Given the description of an element on the screen output the (x, y) to click on. 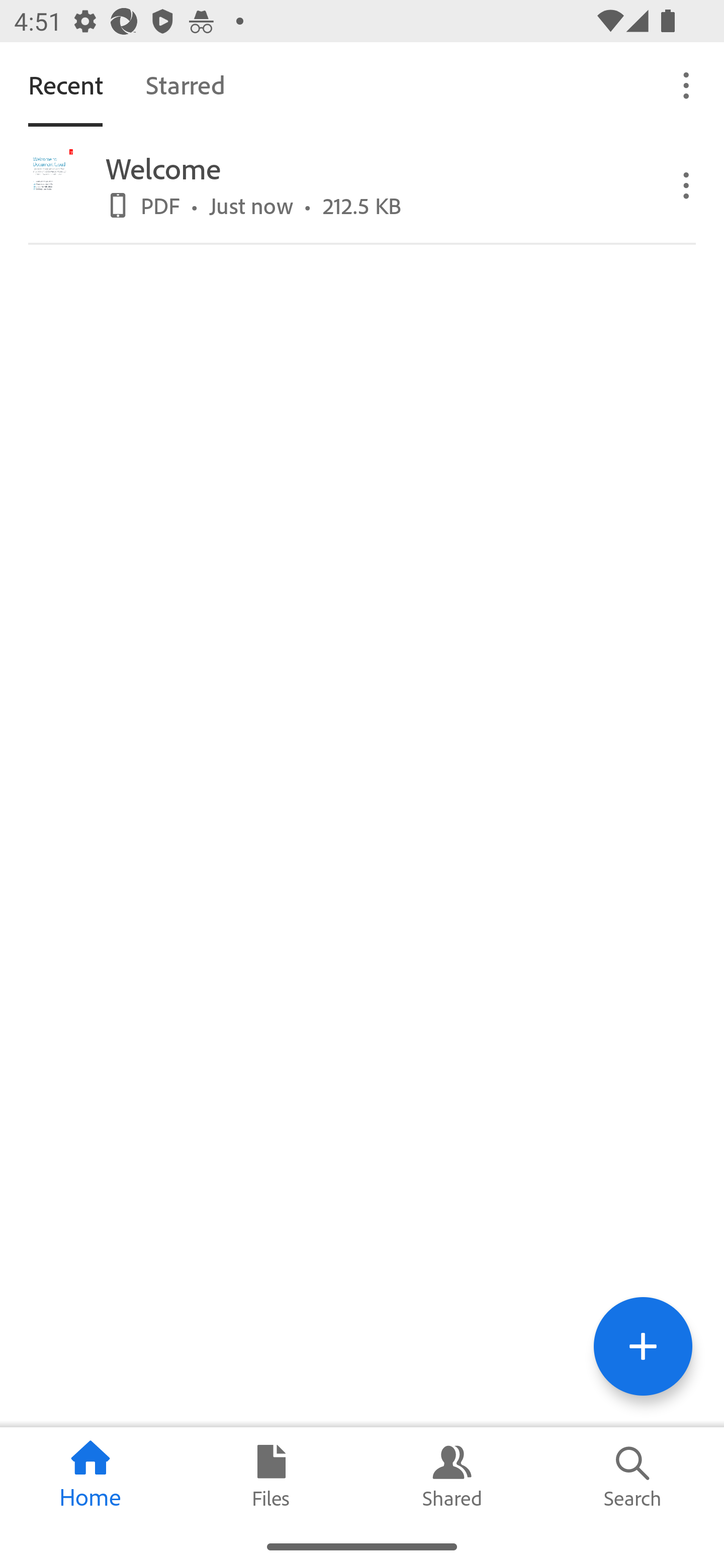
Recent (65, 84)
Starred (185, 84)
Overflow (687, 84)
Overflow (687, 184)
Tools (642, 1345)
Home (90, 1475)
Files (271, 1475)
Shared (452, 1475)
Search (633, 1475)
